Given the description of an element on the screen output the (x, y) to click on. 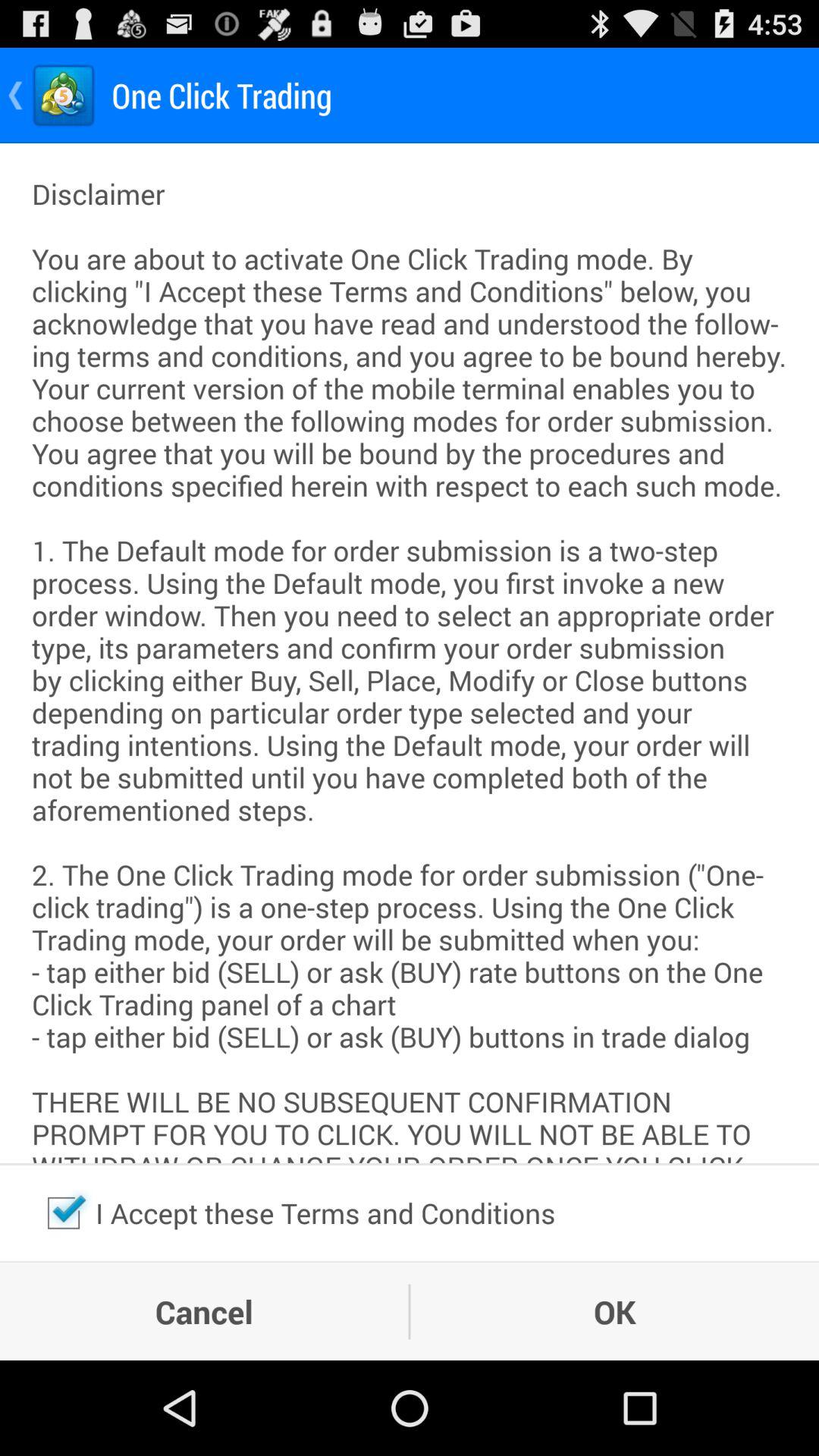
click the item at the bottom right corner (614, 1311)
